Given the description of an element on the screen output the (x, y) to click on. 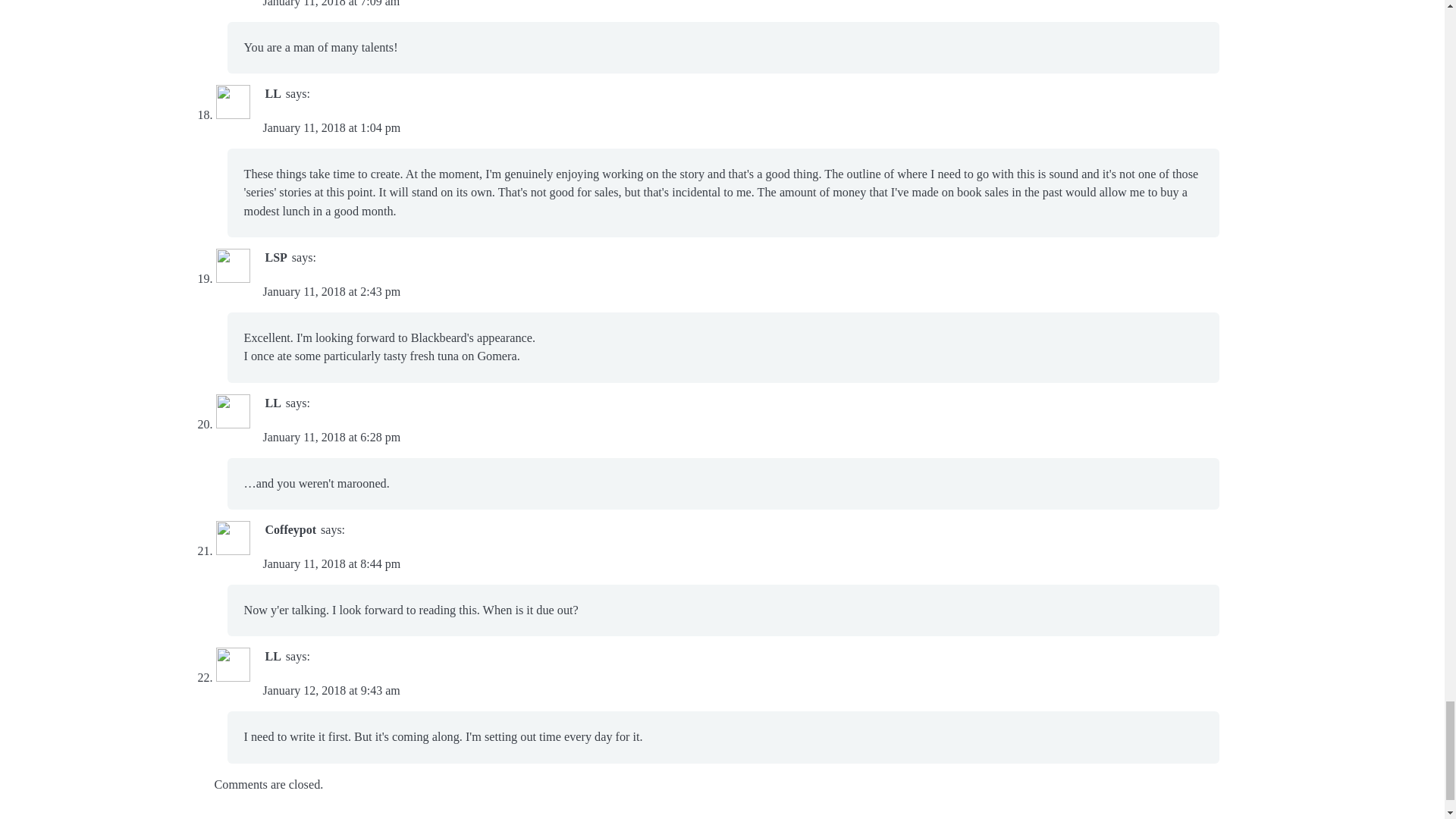
January 11, 2018 at 1:04 pm (331, 127)
January 11, 2018 at 7:09 am (330, 3)
January 12, 2018 at 9:43 am (330, 689)
January 11, 2018 at 2:43 pm (331, 291)
January 11, 2018 at 6:28 pm (331, 436)
January 11, 2018 at 8:44 pm (331, 563)
